Given the description of an element on the screen output the (x, y) to click on. 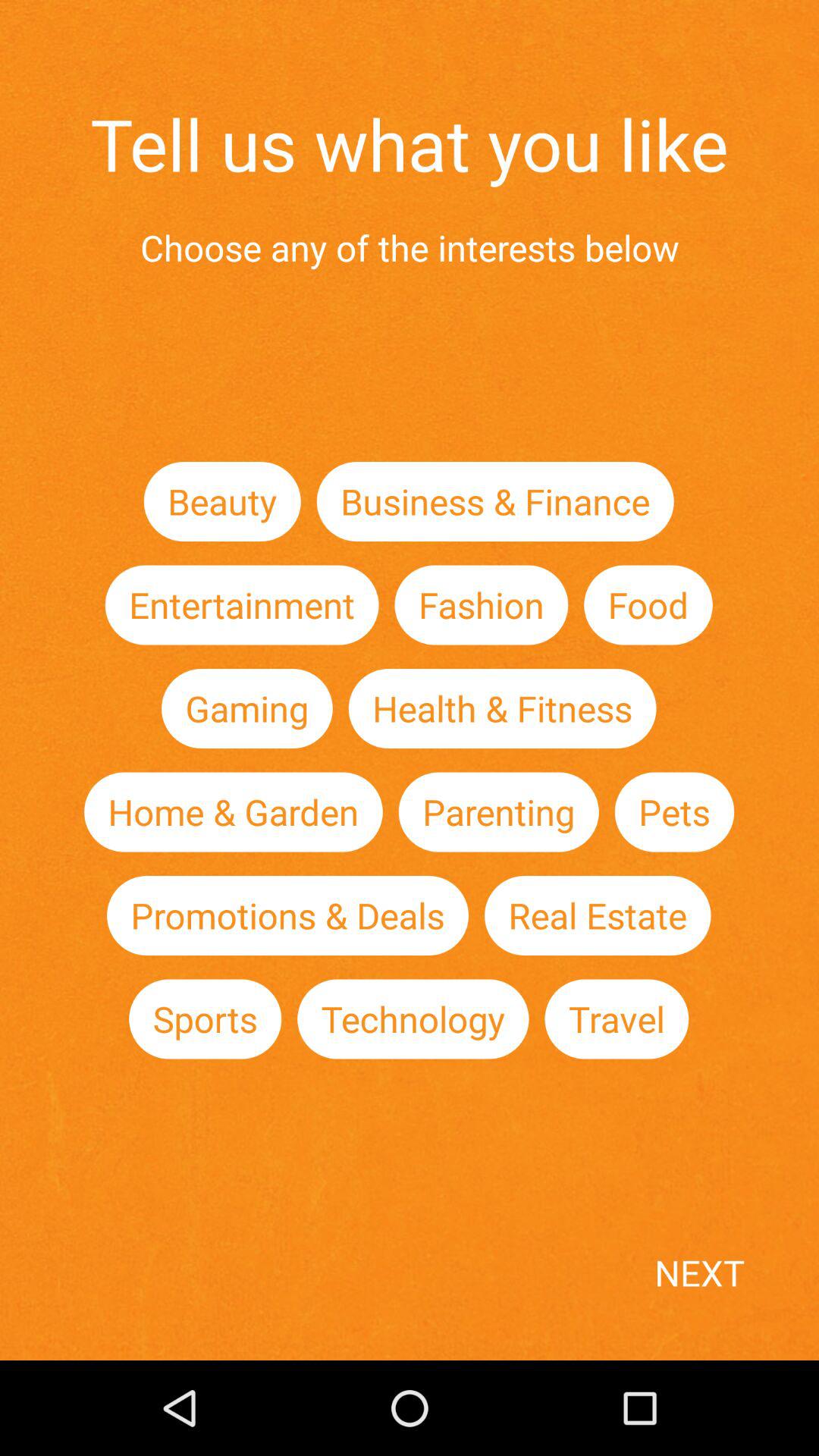
tap icon below choose any of item (221, 501)
